Given the description of an element on the screen output the (x, y) to click on. 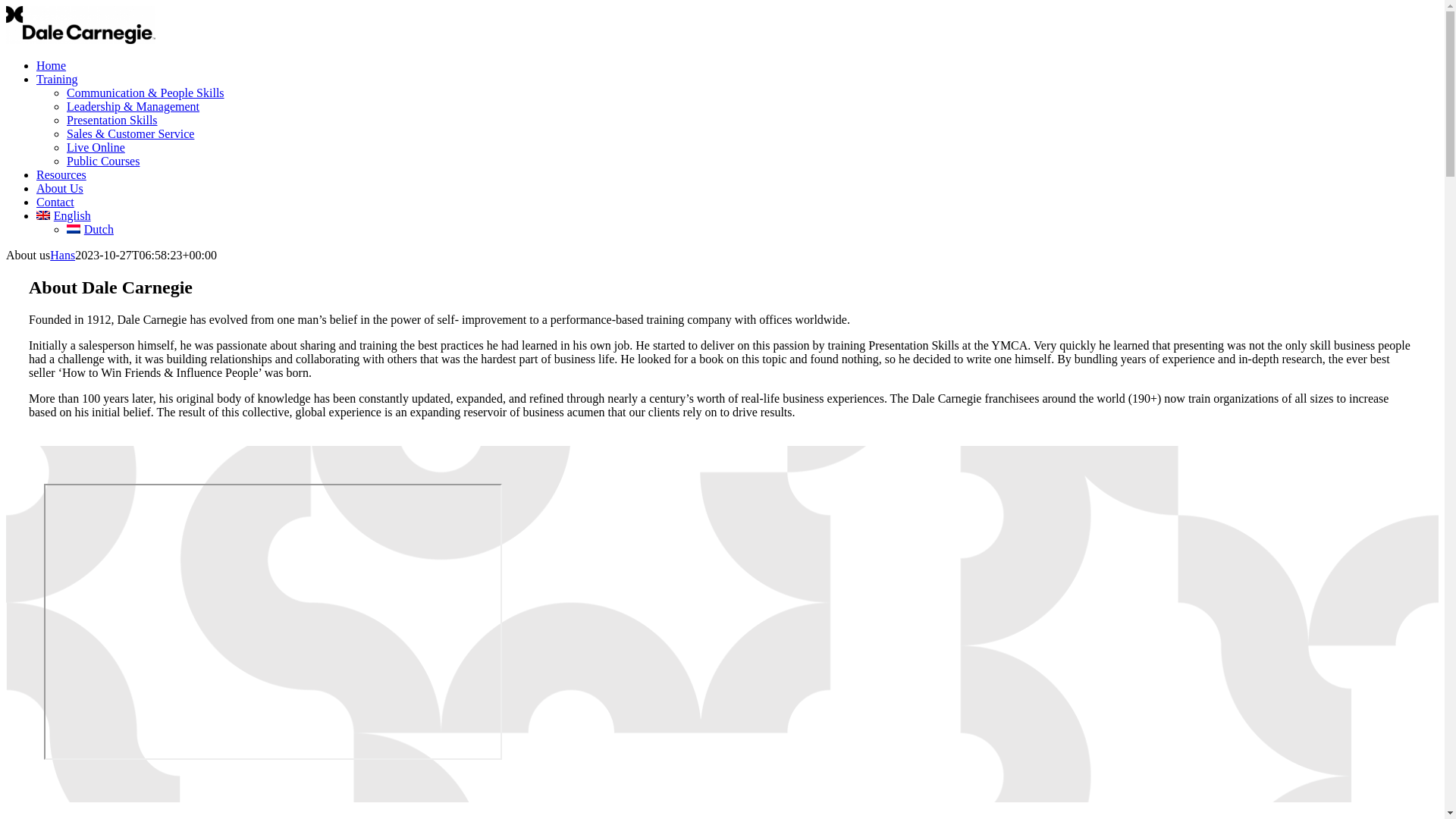
Public Courses Element type: text (102, 160)
English Element type: text (63, 215)
Contact Element type: text (55, 201)
About Us Element type: text (59, 188)
Dutch Element type: text (89, 228)
Communication & People Skills Element type: text (145, 92)
Skip to content Element type: text (5, 5)
Presentation Skills Element type: text (111, 119)
YouTube video player 1 Element type: hover (272, 621)
Hans Element type: text (62, 254)
Live Online Element type: text (95, 147)
Sales & Customer Service Element type: text (130, 133)
Home Element type: text (50, 65)
Training Element type: text (57, 78)
Resources Element type: text (61, 174)
Leadership & Management Element type: text (132, 106)
